Given the description of an element on the screen output the (x, y) to click on. 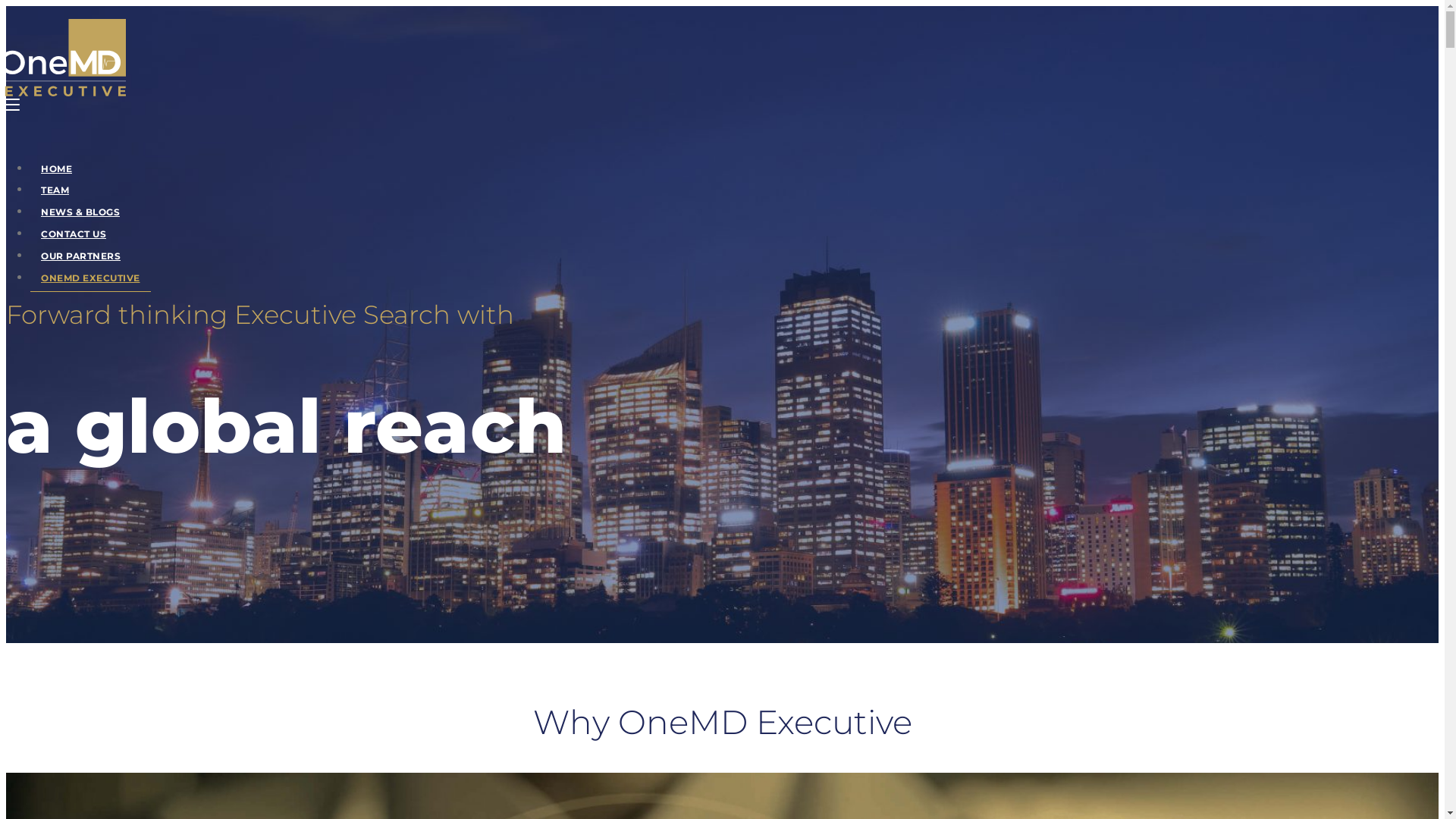
TEAM Element type: text (54, 189)
OUR PARTNERS Element type: text (80, 255)
HOME Element type: text (56, 168)
NEWS & BLOGS Element type: text (80, 211)
CONTACT US Element type: text (73, 233)
ONEMD EXECUTIVE Element type: text (90, 277)
